Given the description of an element on the screen output the (x, y) to click on. 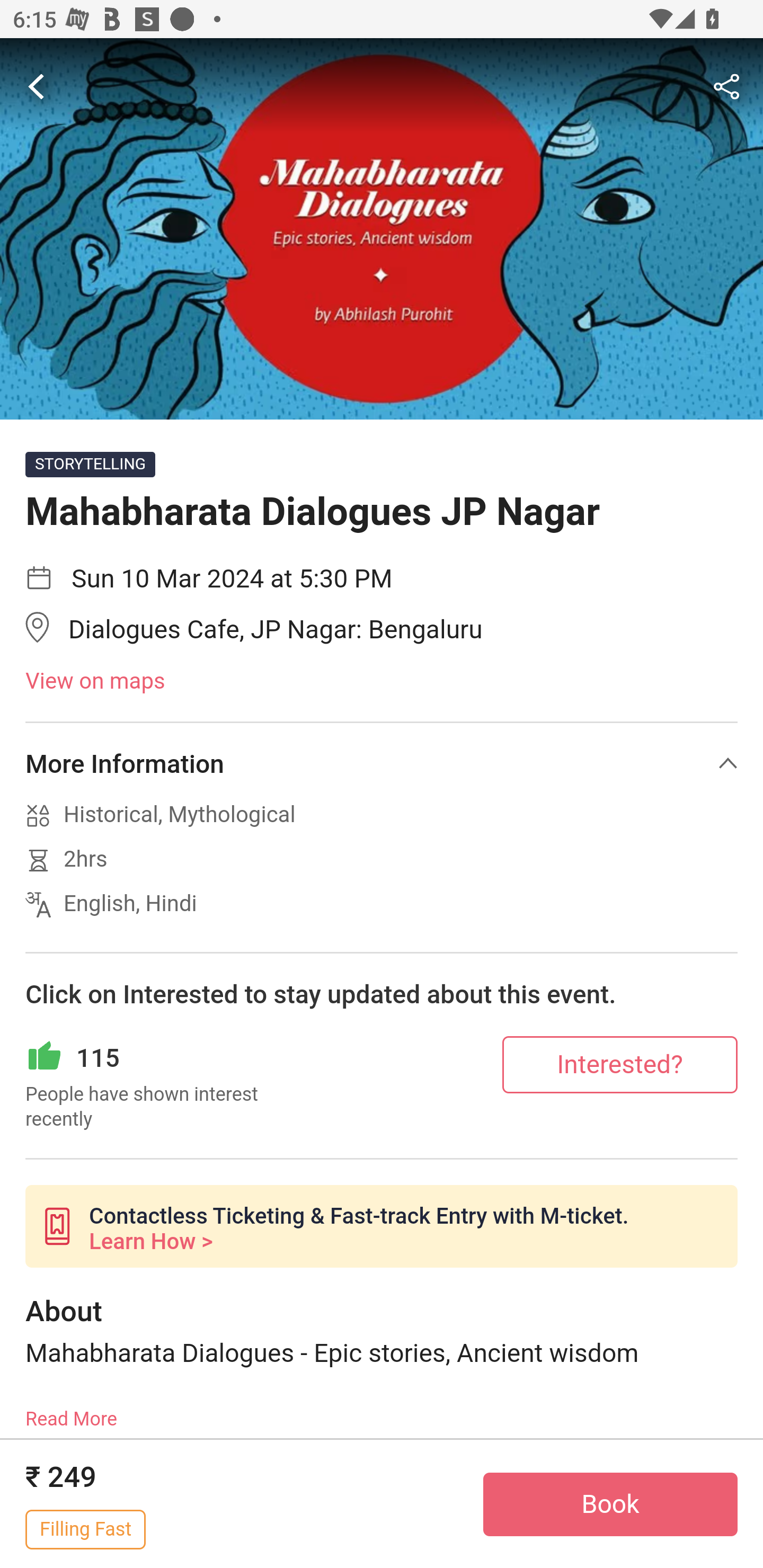
View on maps (381, 681)
More Information (381, 763)
Interested? (619, 1063)
Learn How > (150, 1241)
Read More (71, 1412)
Terms & Conditions (381, 1500)
Book (609, 1504)
